Given the description of an element on the screen output the (x, y) to click on. 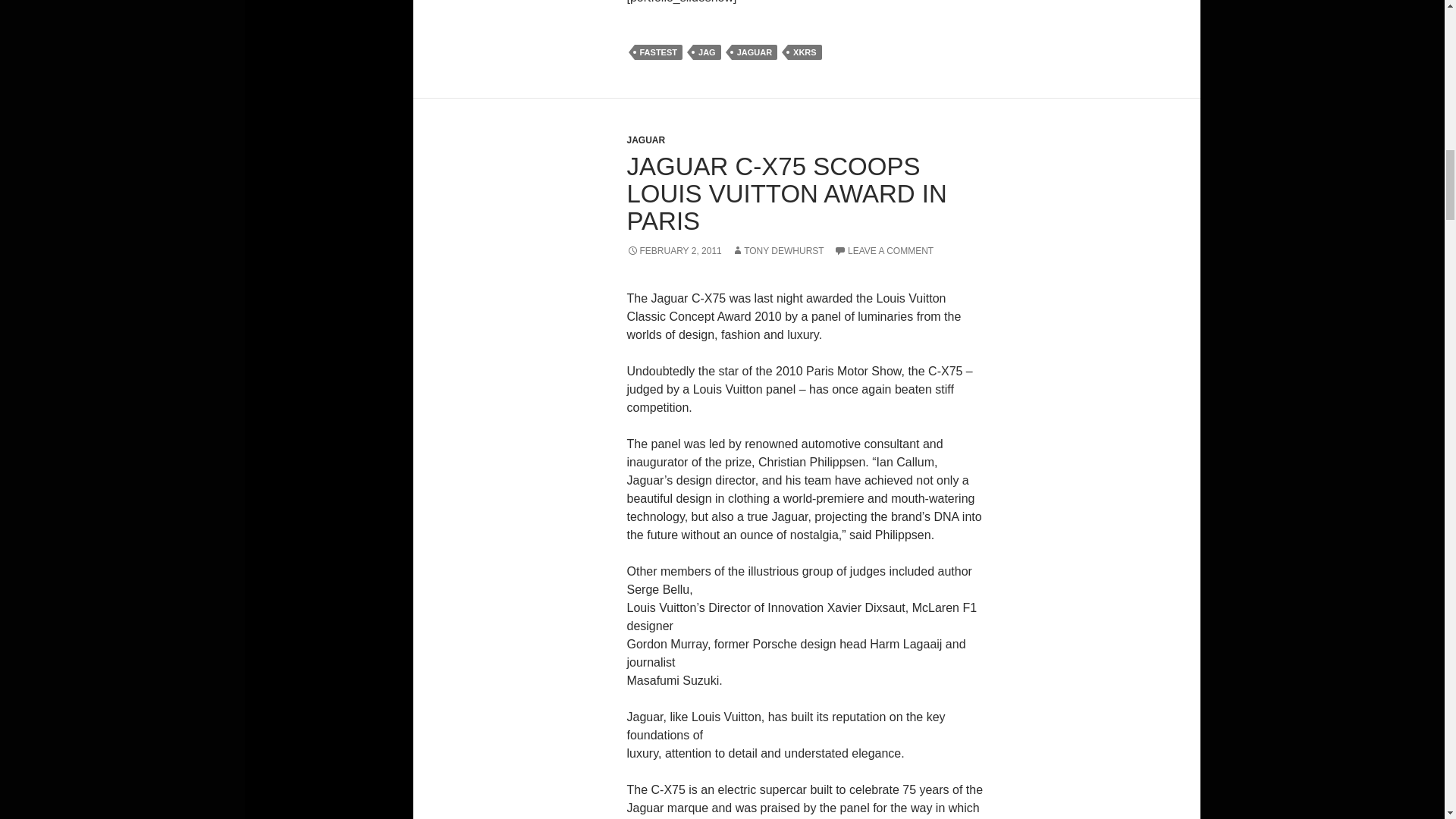
JAGUAR (754, 52)
JAGUAR C-X75 SCOOPS LOUIS VUITTON AWARD IN PARIS (786, 193)
FASTEST (657, 52)
LEAVE A COMMENT (883, 250)
XKRS (804, 52)
JAGUAR (645, 140)
TONY DEWHURST (778, 250)
FEBRUARY 2, 2011 (673, 250)
JAG (706, 52)
